Given the description of an element on the screen output the (x, y) to click on. 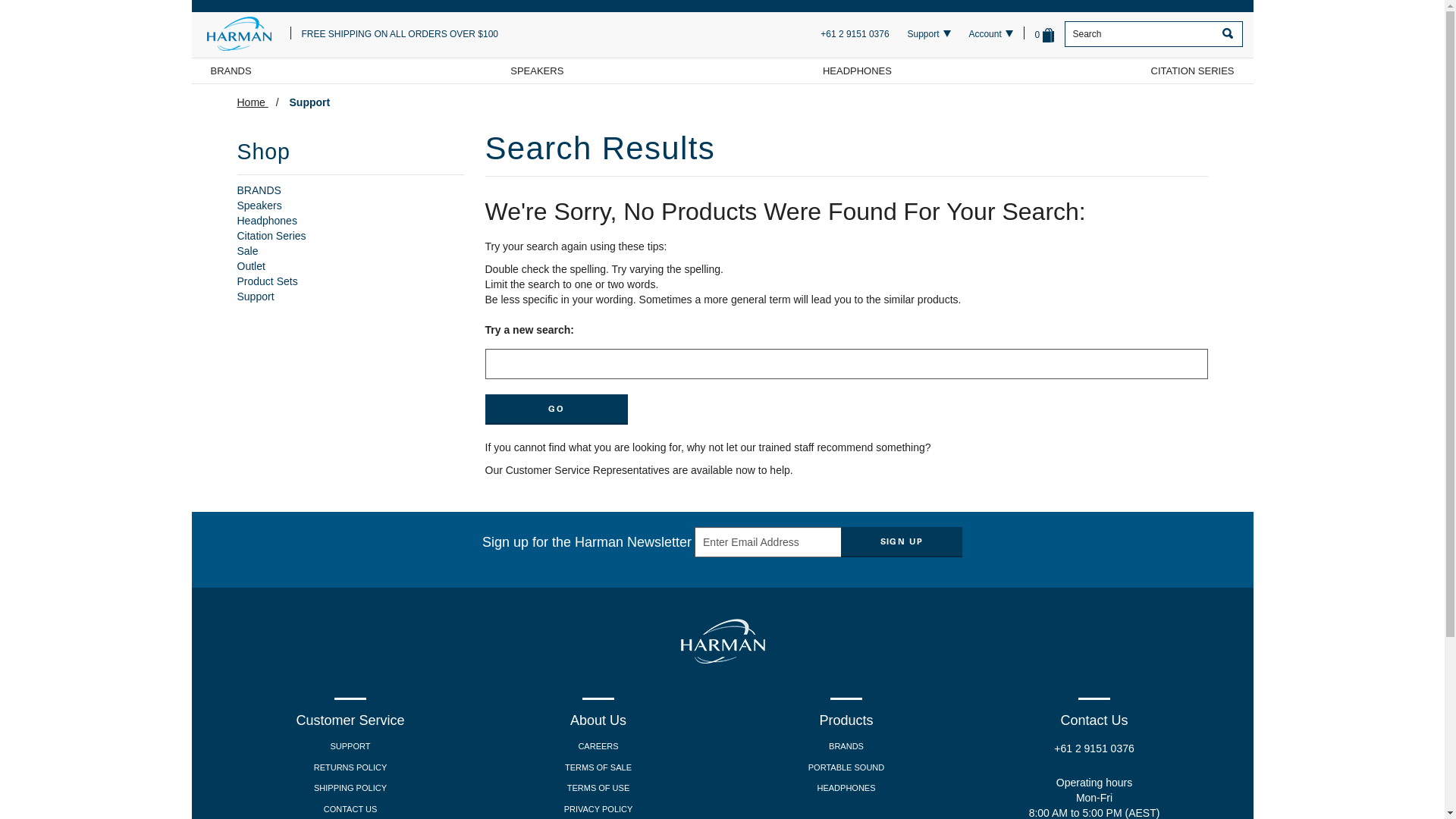
Account Element type: text (984, 34)
Sale Element type: text (246, 250)
0 Element type: text (1044, 34)
Headphones Element type: text (266, 220)
TERMS OF SALE Element type: text (598, 768)
BRANDS Element type: text (845, 746)
Support Element type: text (923, 34)
CAREERS Element type: text (598, 746)
CITATION SERIES Element type: text (1191, 70)
BRANDS Element type: text (230, 70)
Support Element type: text (254, 296)
Outlet Element type: text (250, 266)
PORTABLE SOUND Element type: text (845, 768)
go Element type: text (1226, 33)
FREE SHIPPING ON ALL ORDERS OVER $100 Element type: text (399, 34)
GO Element type: text (556, 409)
Shop Element type: text (349, 157)
BRANDS Element type: text (258, 190)
SPEAKERS Element type: text (536, 70)
TERMS OF USE Element type: text (598, 788)
SUPPORT Element type: text (349, 746)
SHIPPING POLICY Element type: text (349, 788)
RETURNS POLICY Element type: text (349, 768)
Product Sets Element type: text (266, 281)
HEADPHONES Element type: text (845, 788)
SIGN UP Element type: text (901, 542)
Speakers Element type: text (258, 205)
HEADPHONES Element type: text (857, 70)
CONTACT US Element type: text (349, 809)
PRIVACY POLICY Element type: text (598, 809)
Citation Series Element type: text (270, 235)
Home Element type: text (257, 102)
HARMAN Element type: text (245, 34)
